Given the description of an element on the screen output the (x, y) to click on. 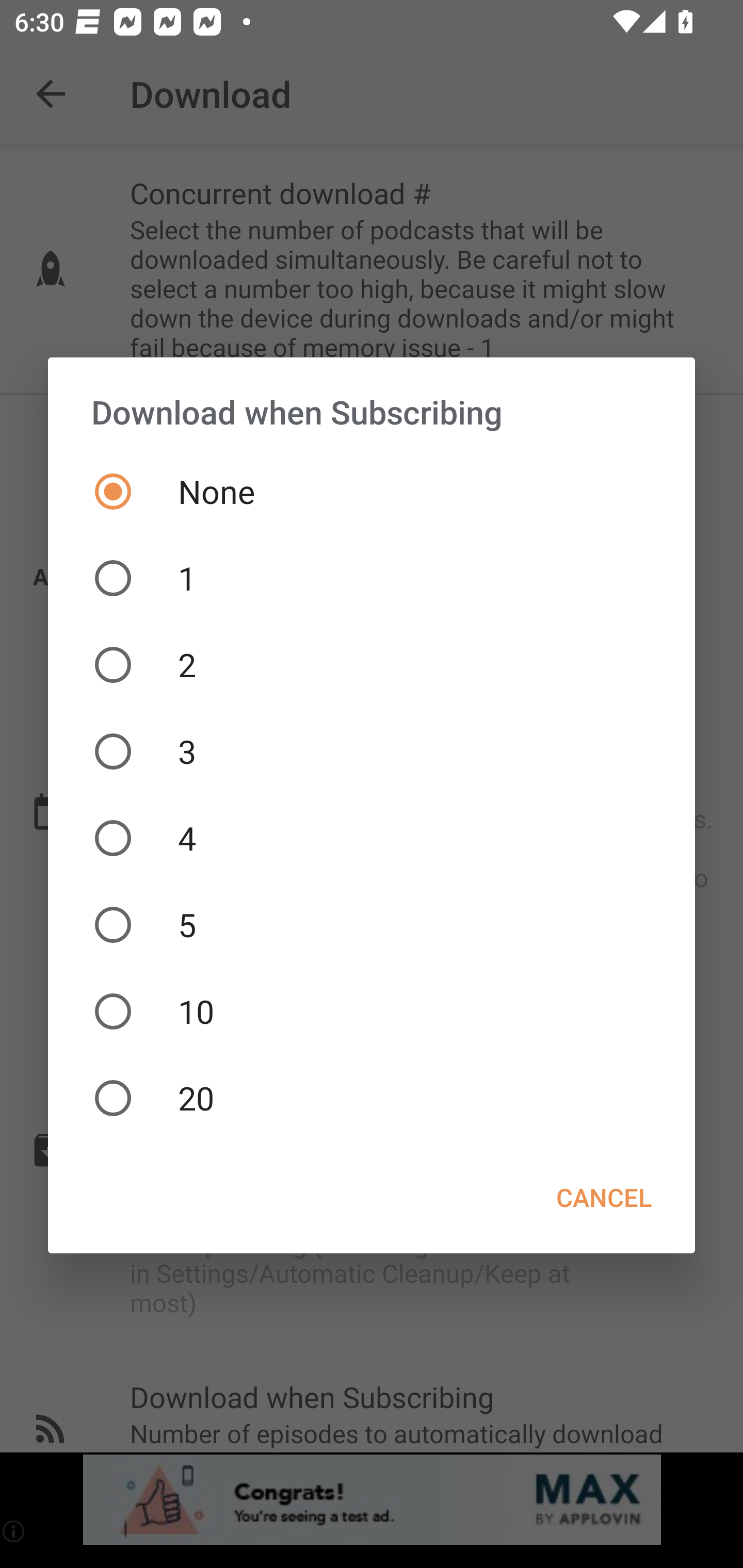
None (371, 491)
1 (371, 577)
2 (371, 664)
3 (371, 751)
4 (371, 837)
5 (371, 924)
10 (371, 1011)
20 (371, 1098)
CANCEL (603, 1197)
